Given the description of an element on the screen output the (x, y) to click on. 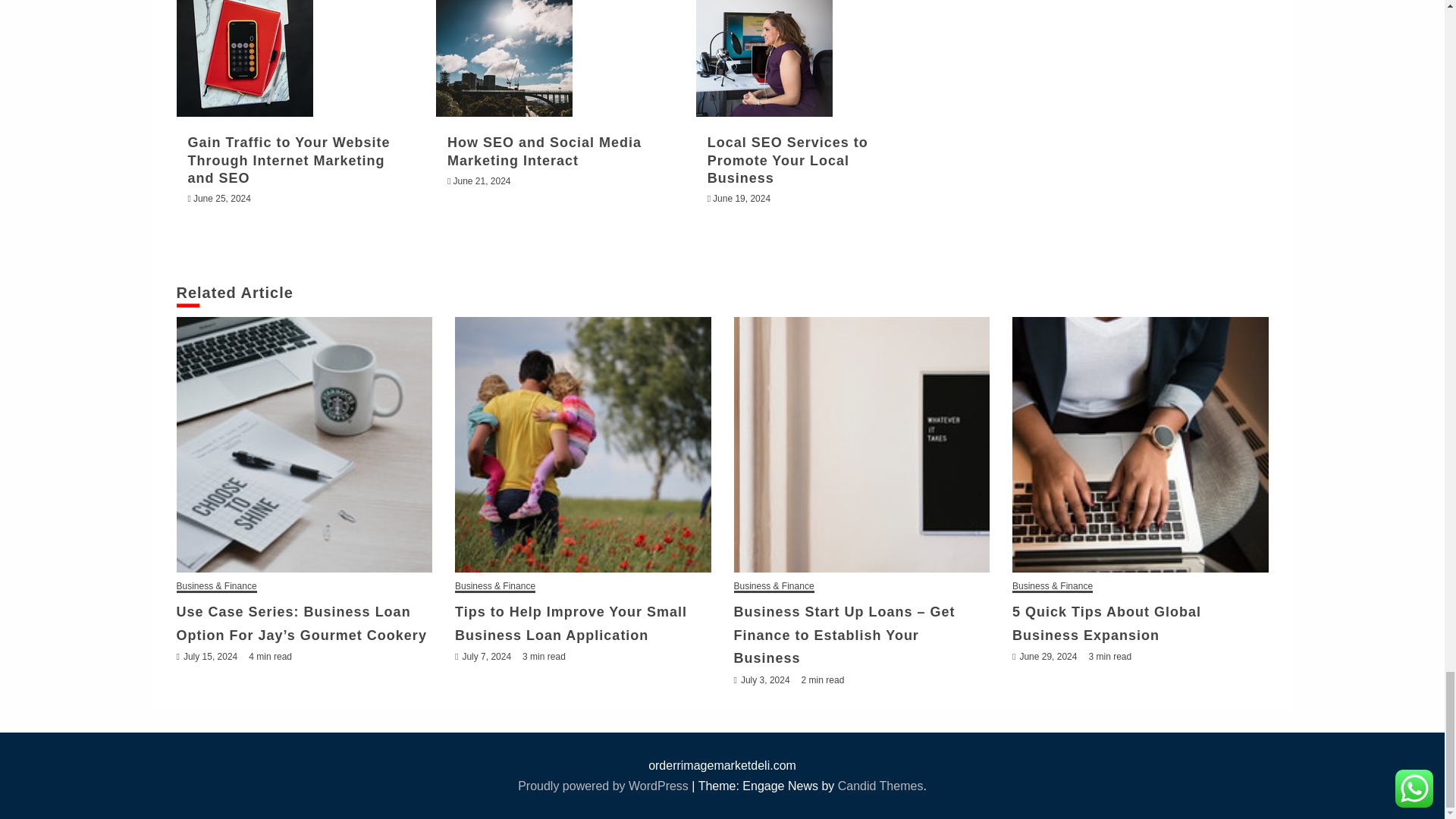
How SEO and Social Media Marketing Interact (503, 58)
Local SEO Services to Promote Your Local Business (763, 58)
